Given the description of an element on the screen output the (x, y) to click on. 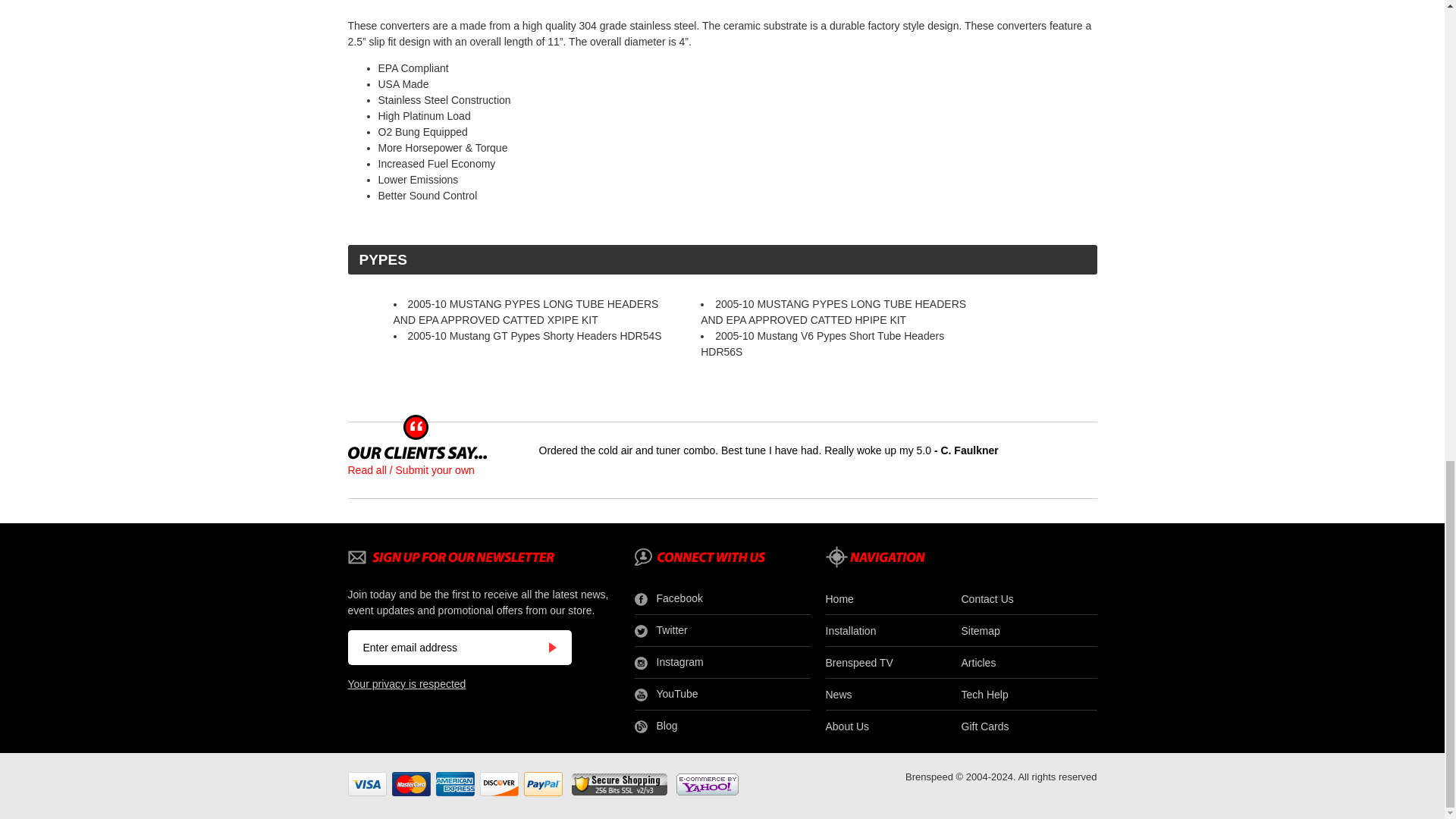
VISA, MC, AmEx, DISCOVER, PayPal (454, 784)
Secure Shopping (619, 784)
Submit Email (552, 647)
Enter email address (447, 647)
Go (552, 647)
Our Clients Say... (416, 452)
